Given the description of an element on the screen output the (x, y) to click on. 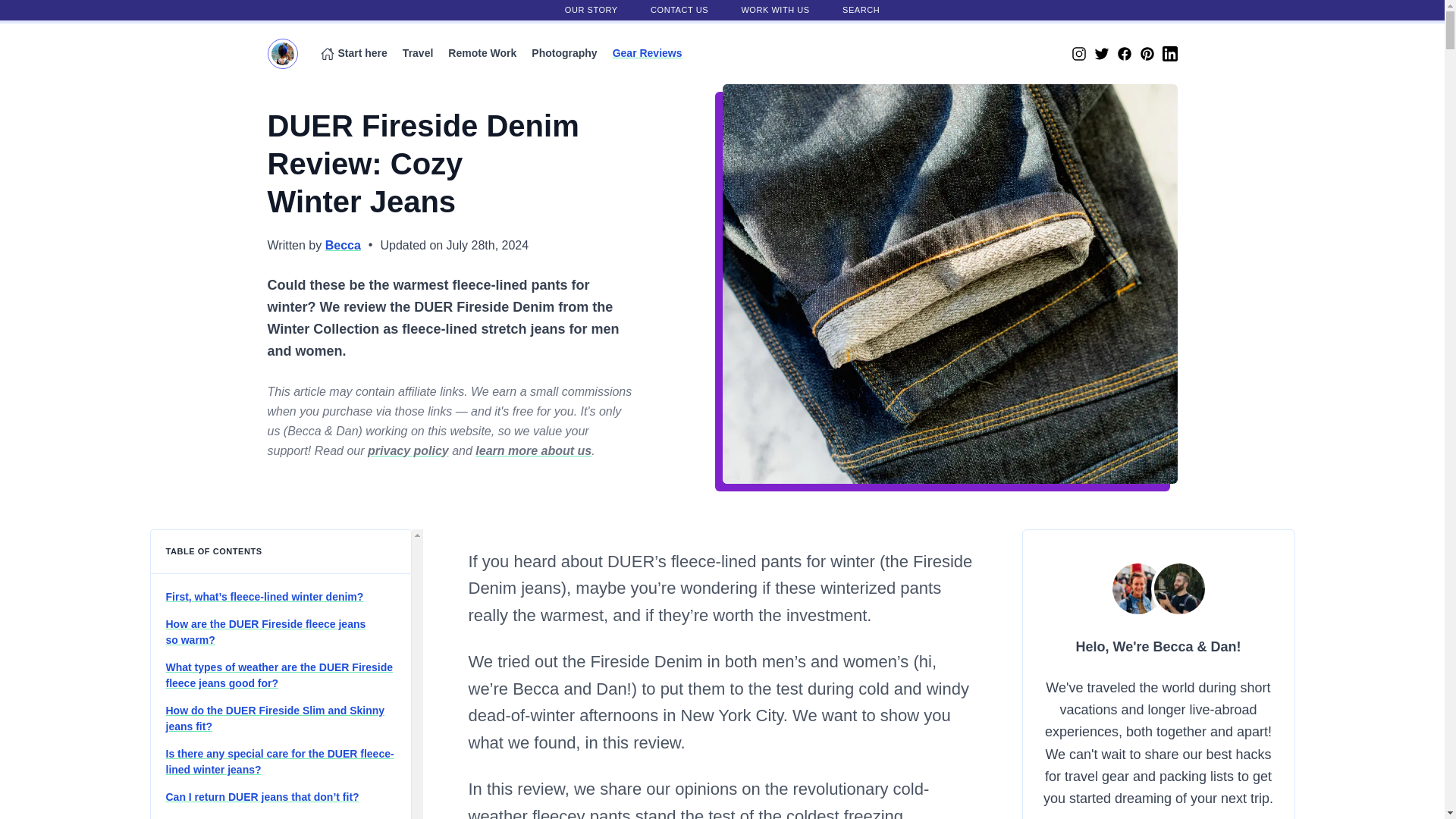
Twitter (1100, 52)
This means hello! (1090, 645)
Photography (563, 52)
Gear Reviews (647, 52)
WORK WITH US (775, 9)
LinkedIn (1168, 52)
SEARCH (861, 9)
How do the DUER Fireside Slim and Skinny jeans fit? (274, 718)
Remote Work (482, 52)
